Given the description of an element on the screen output the (x, y) to click on. 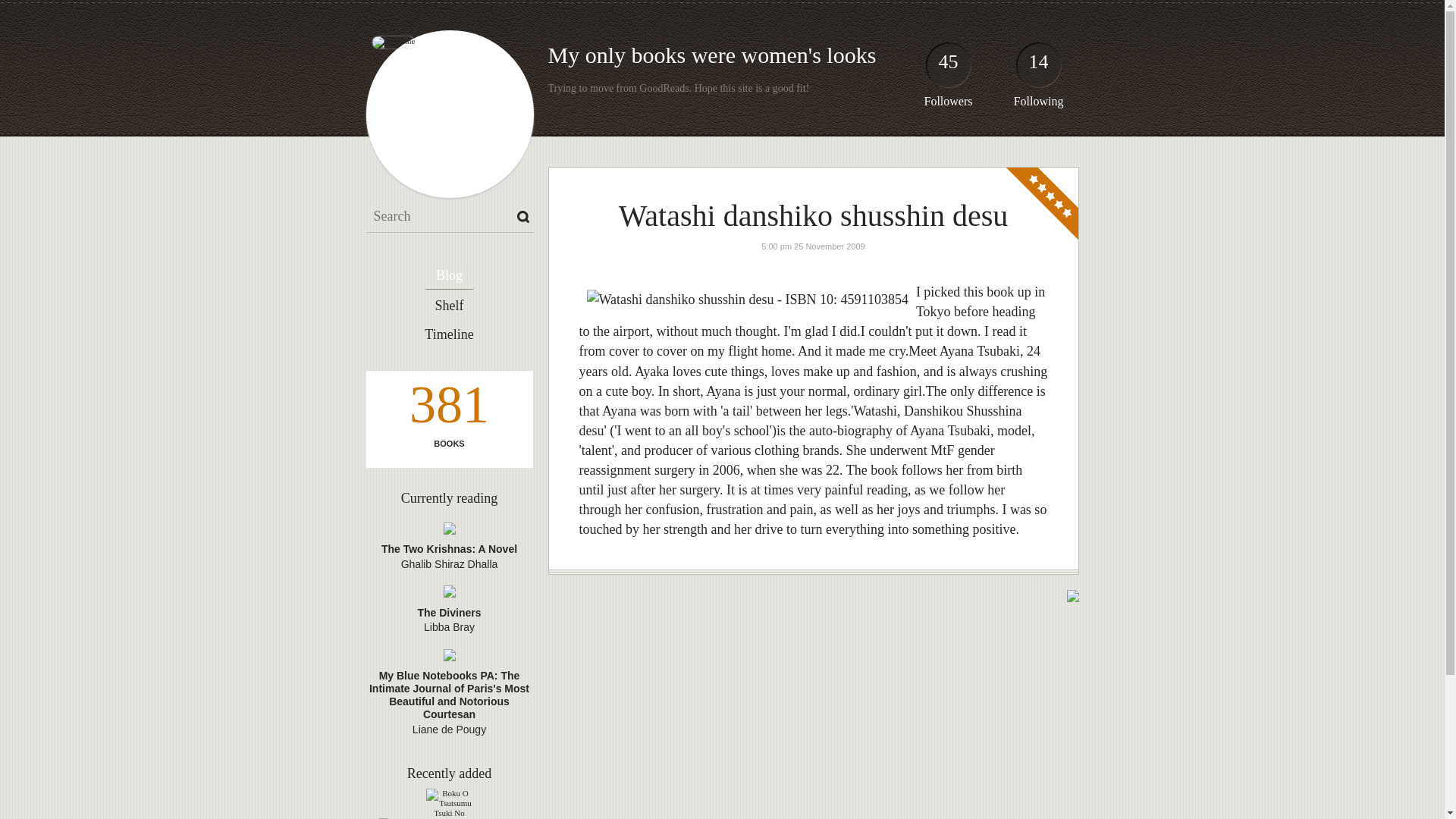
BOOKS (448, 443)
Currently reading (449, 498)
Watashi danshiko shusshin desu (812, 215)
My only books were women's looks (711, 54)
Timeline (448, 335)
381 (448, 408)
5:00 pm 25 November 2009 (812, 245)
14 (1038, 67)
45 (947, 67)
Blog (449, 275)
